Given the description of an element on the screen output the (x, y) to click on. 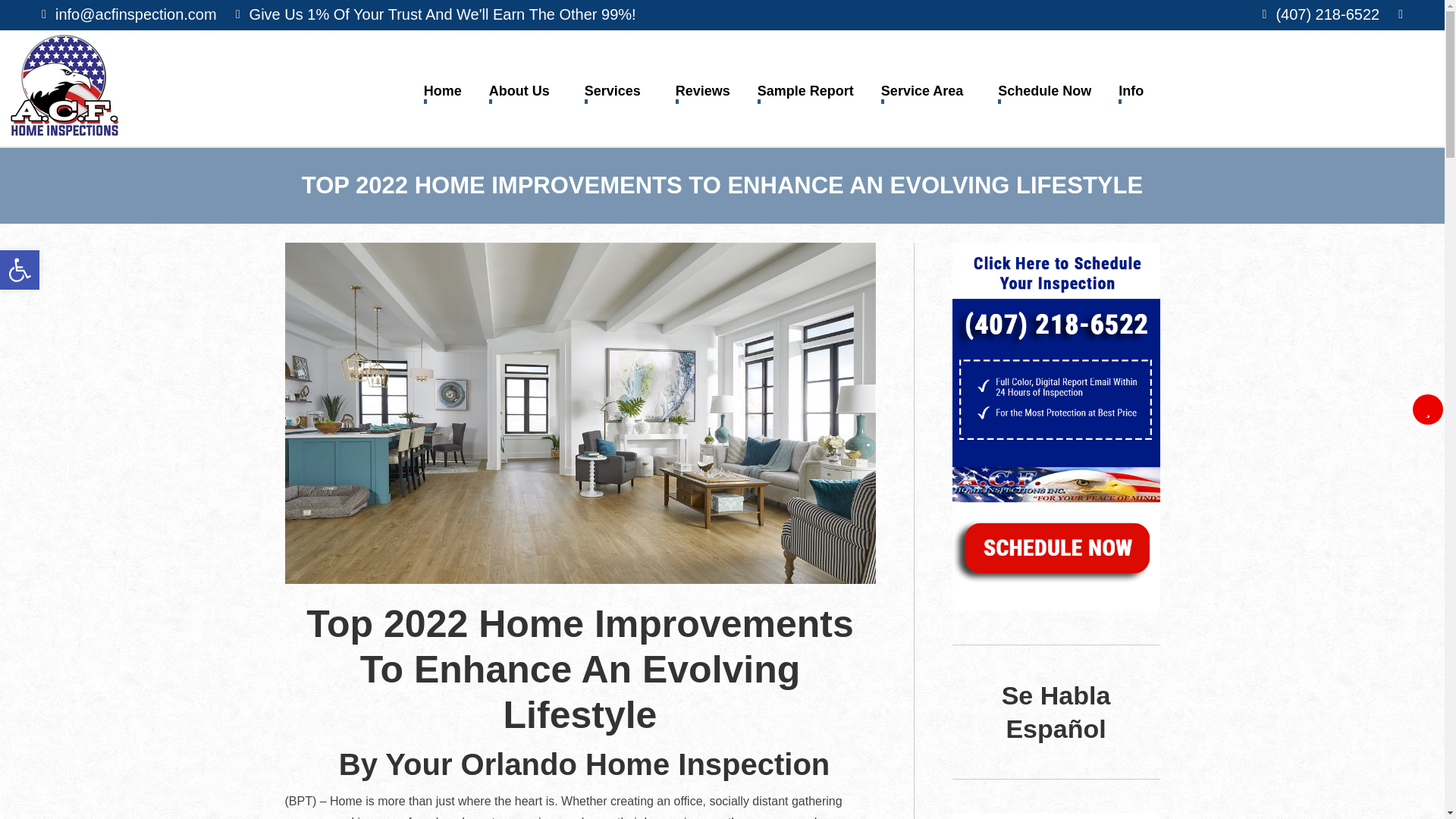
Schedule Now (1044, 88)
Accessibility Tools (19, 269)
Service Area (921, 88)
Sample Report (805, 88)
Go! (24, 15)
Accessibility Tools (19, 269)
